Given the description of an element on the screen output the (x, y) to click on. 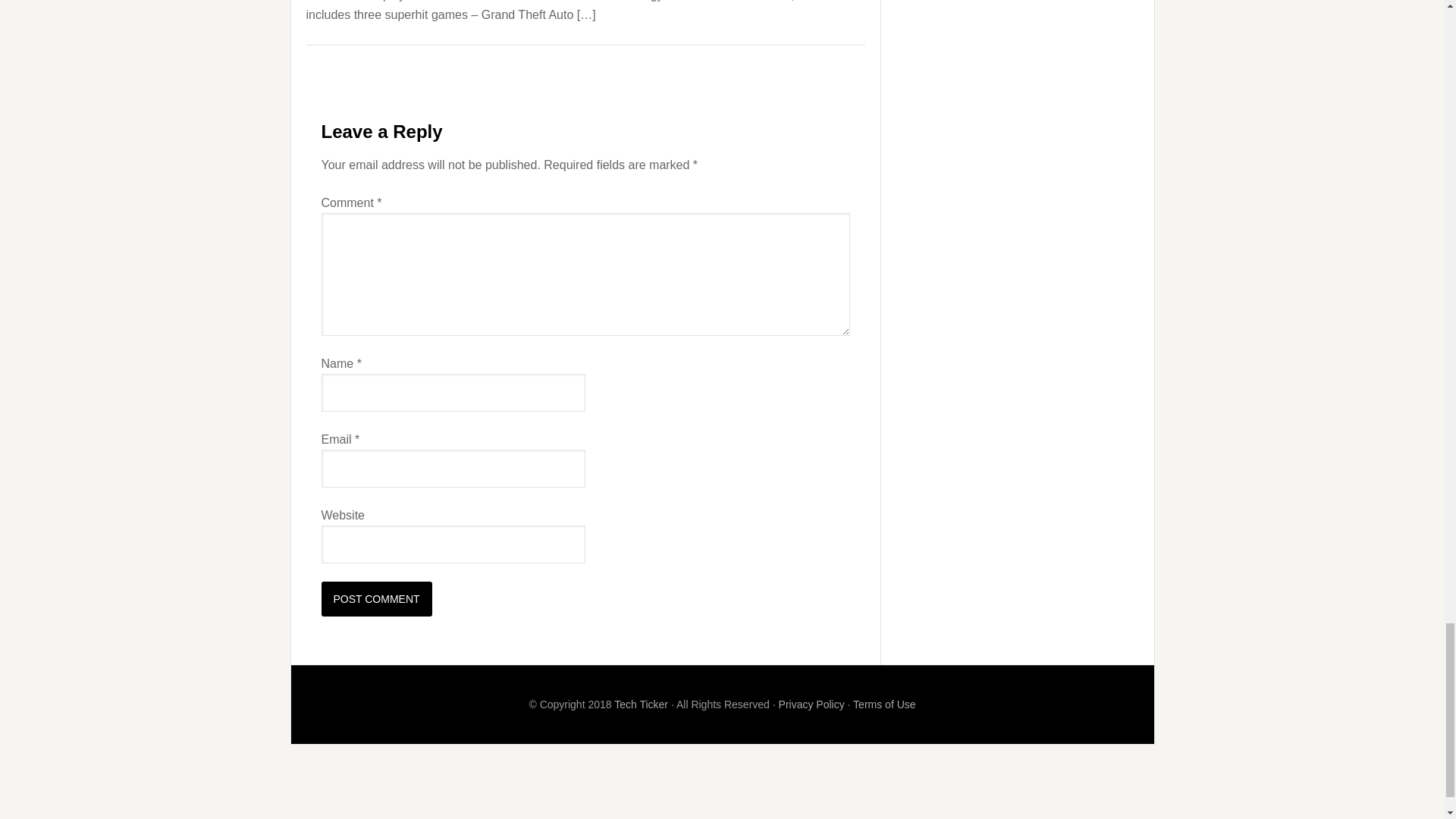
Post Comment (376, 598)
